Given the description of an element on the screen output the (x, y) to click on. 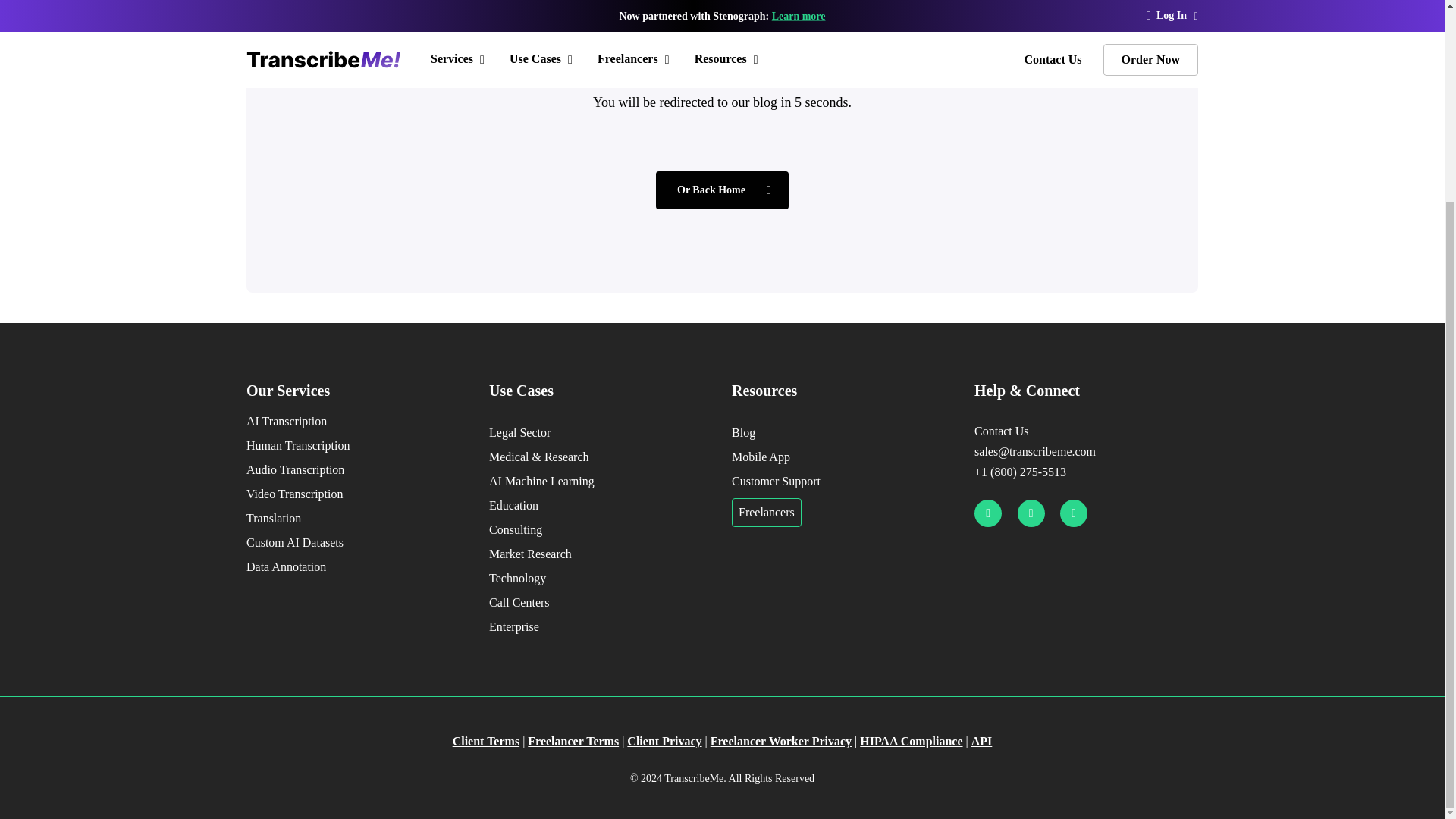
AI Transcription (358, 421)
Human Transcription (358, 445)
Audio Transcription (358, 470)
Or Back Home (722, 190)
Our Services (358, 390)
